Given the description of an element on the screen output the (x, y) to click on. 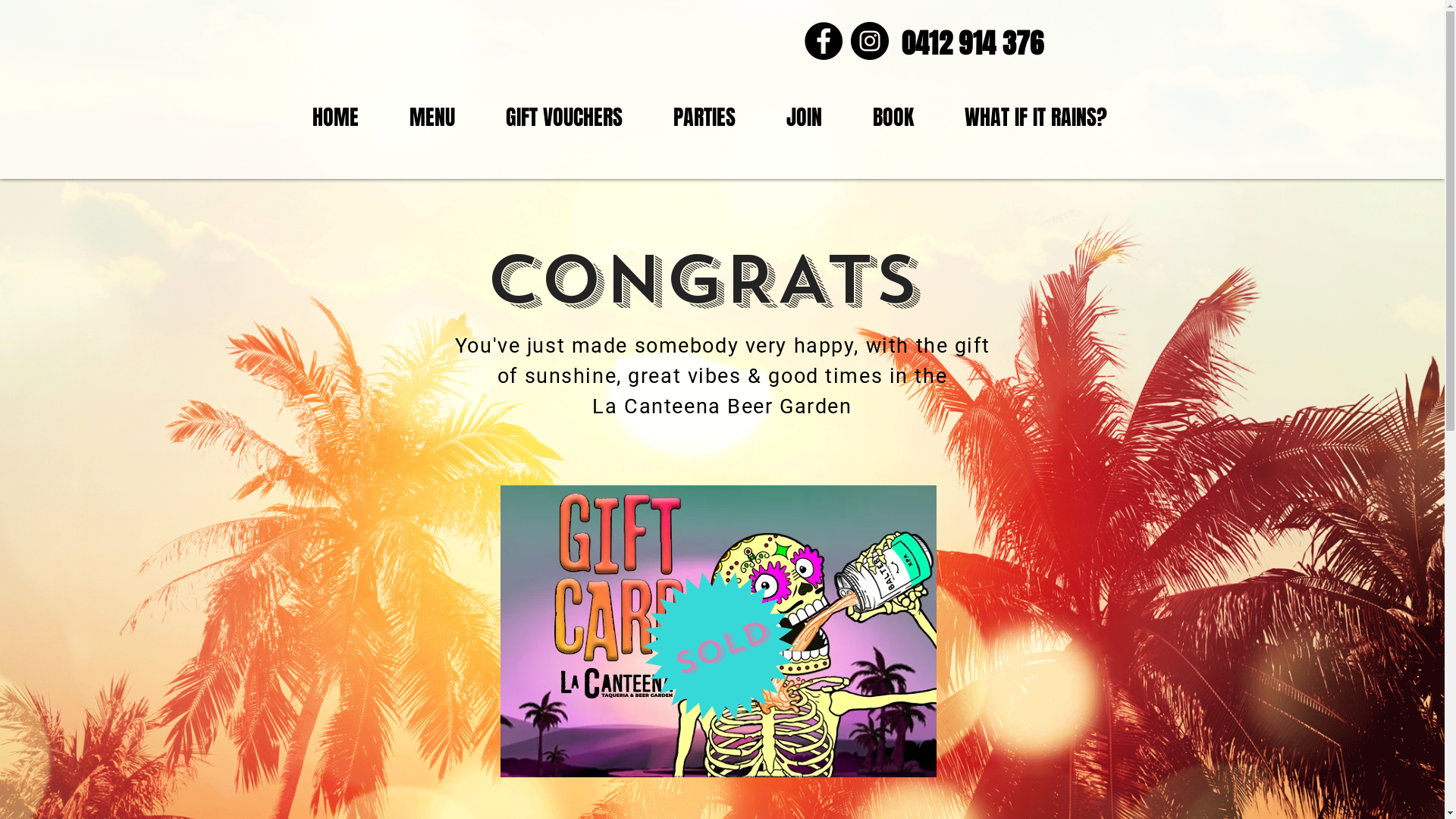
BOOK Element type: text (893, 117)
WHAT IF IT RAINS? Element type: text (1035, 117)
PARTIES Element type: text (703, 117)
HOME Element type: text (334, 117)
GIFT VOUCHERS Element type: text (564, 117)
JOIN Element type: text (804, 117)
MENU Element type: text (431, 117)
